Given the description of an element on the screen output the (x, y) to click on. 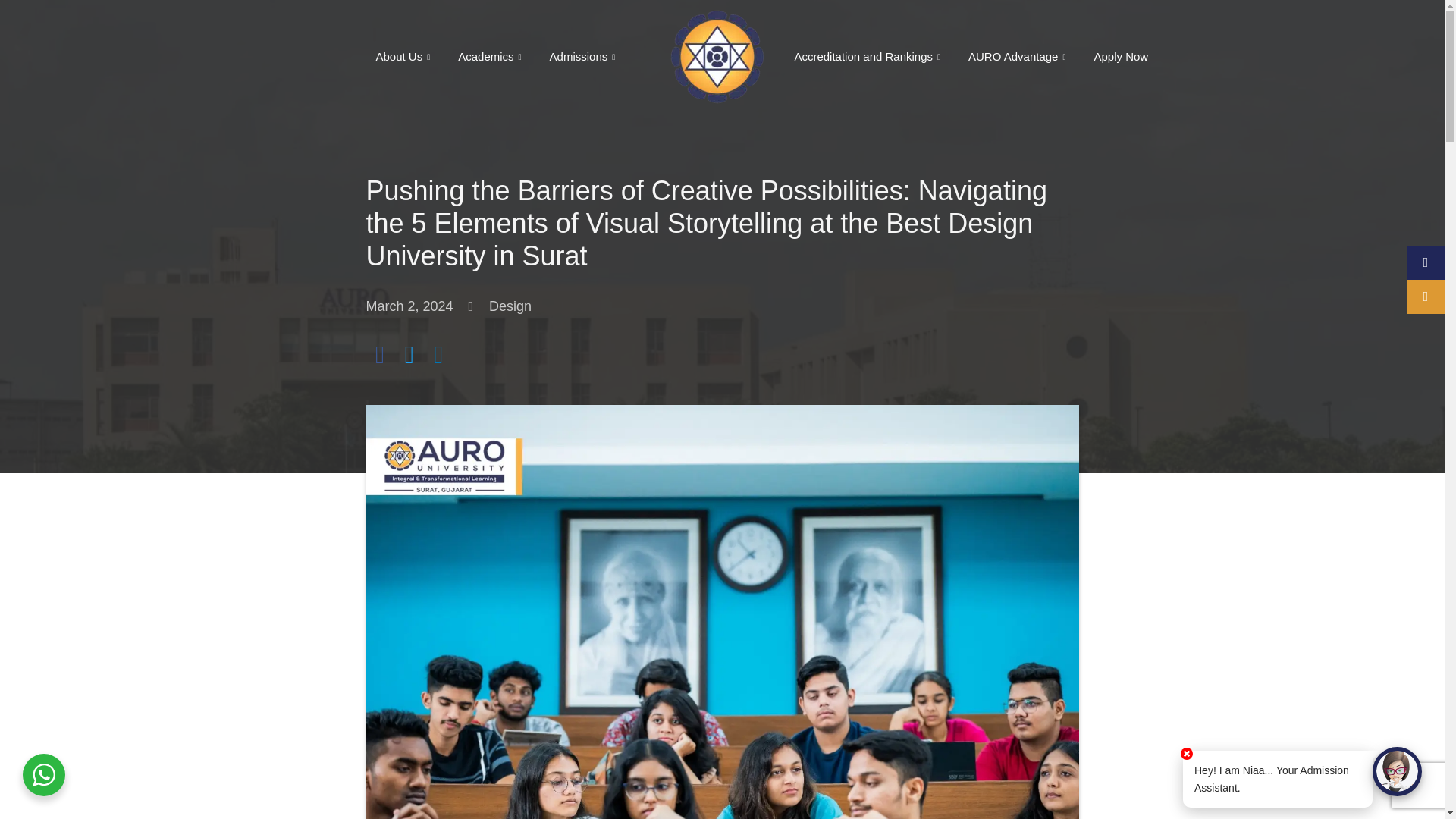
Academics (491, 56)
Niaa (1397, 771)
About Us (405, 56)
